Given the description of an element on the screen output the (x, y) to click on. 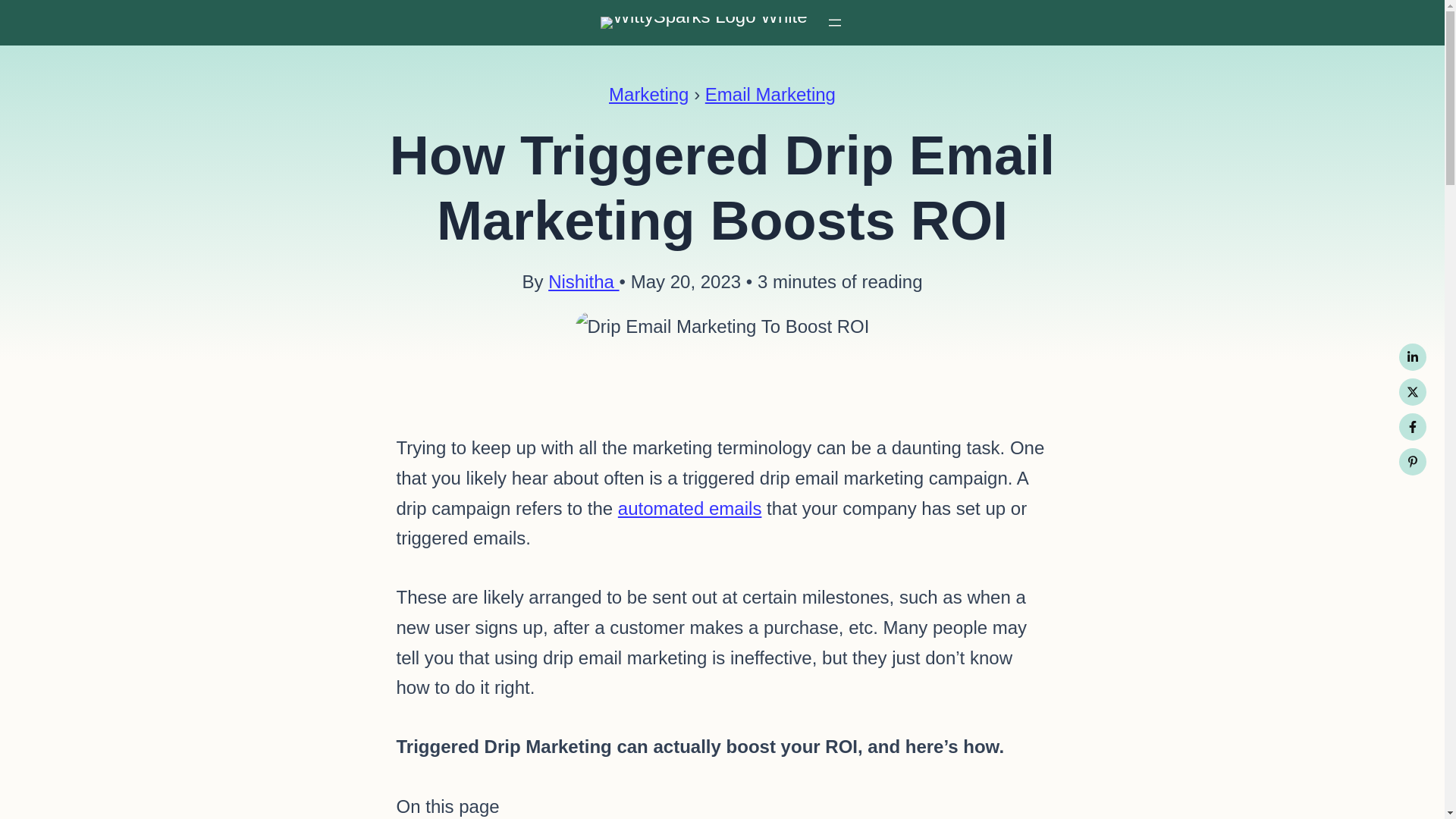
Marketing (648, 94)
automated emails (689, 507)
View all posts by Nishitha (583, 281)
How Triggered Drip Email Marketing Boosts ROI 2 (722, 327)
Nishitha (583, 281)
Email Marketing (769, 94)
